Given the description of an element on the screen output the (x, y) to click on. 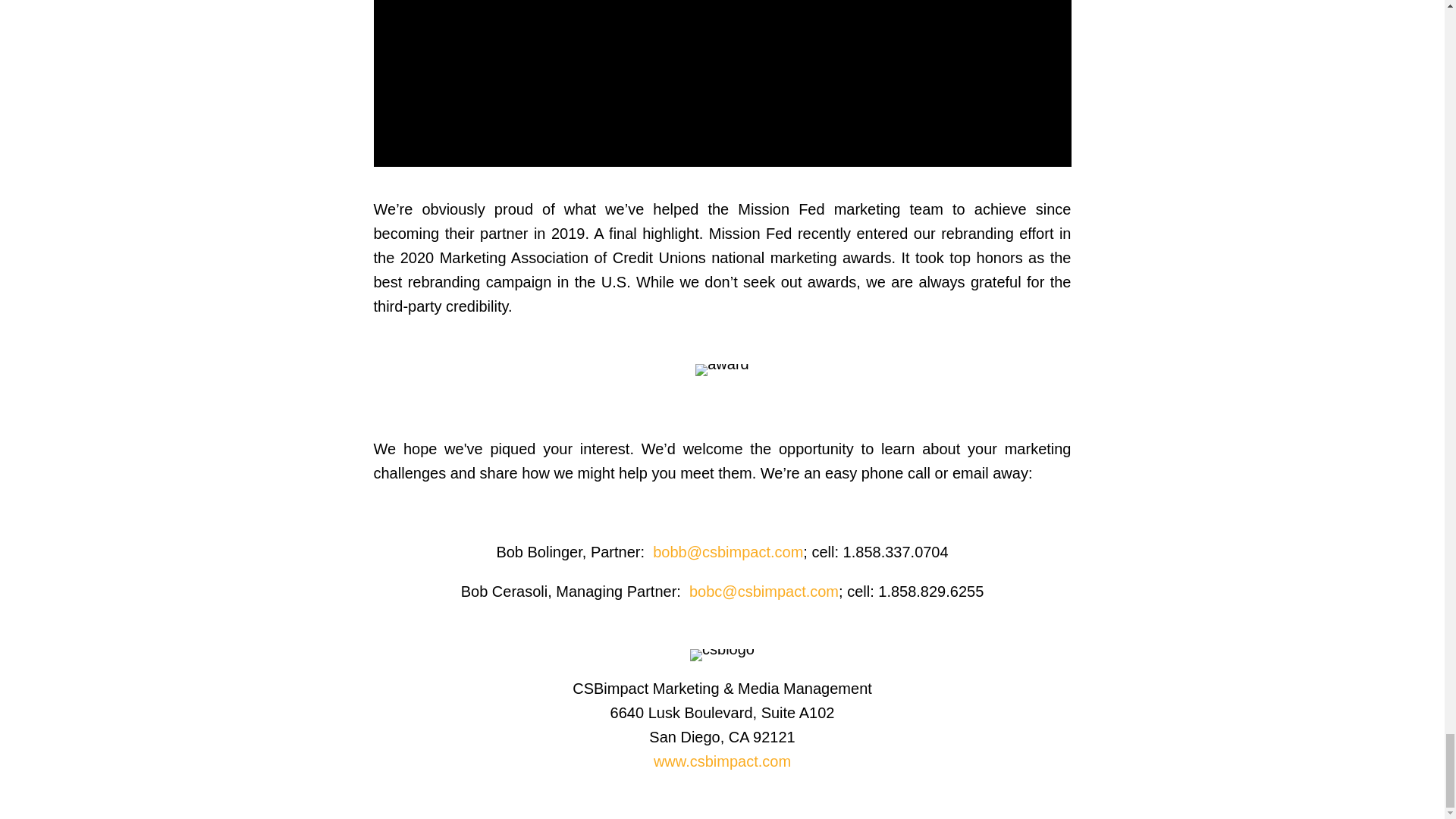
csblogo (722, 654)
www.csbimpact.com (721, 760)
award (721, 369)
